Given the description of an element on the screen output the (x, y) to click on. 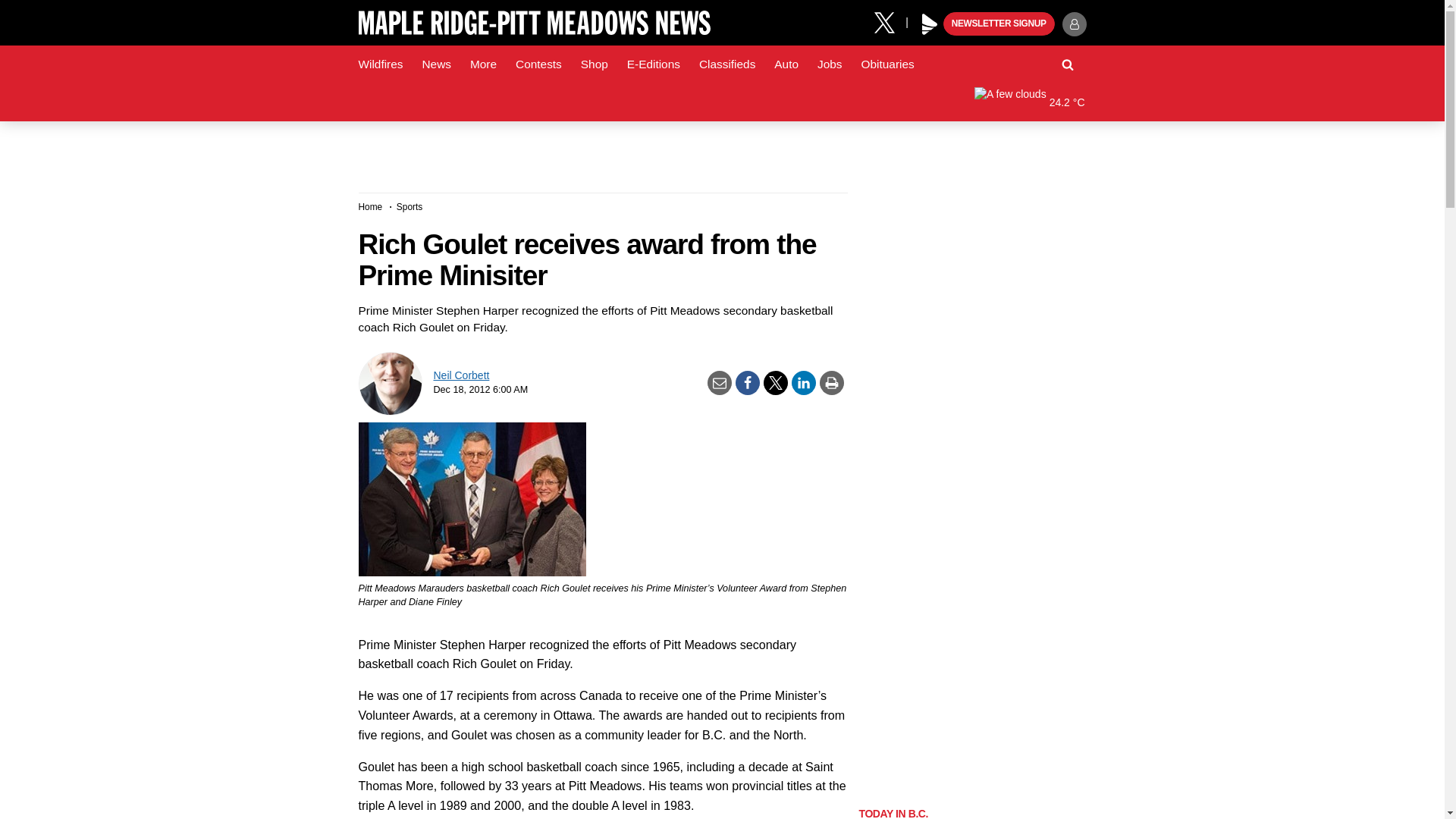
Play (929, 24)
Black Press Media (929, 24)
Wildfires (380, 64)
News (435, 64)
NEWSLETTER SIGNUP (998, 24)
X (889, 21)
